Given the description of an element on the screen output the (x, y) to click on. 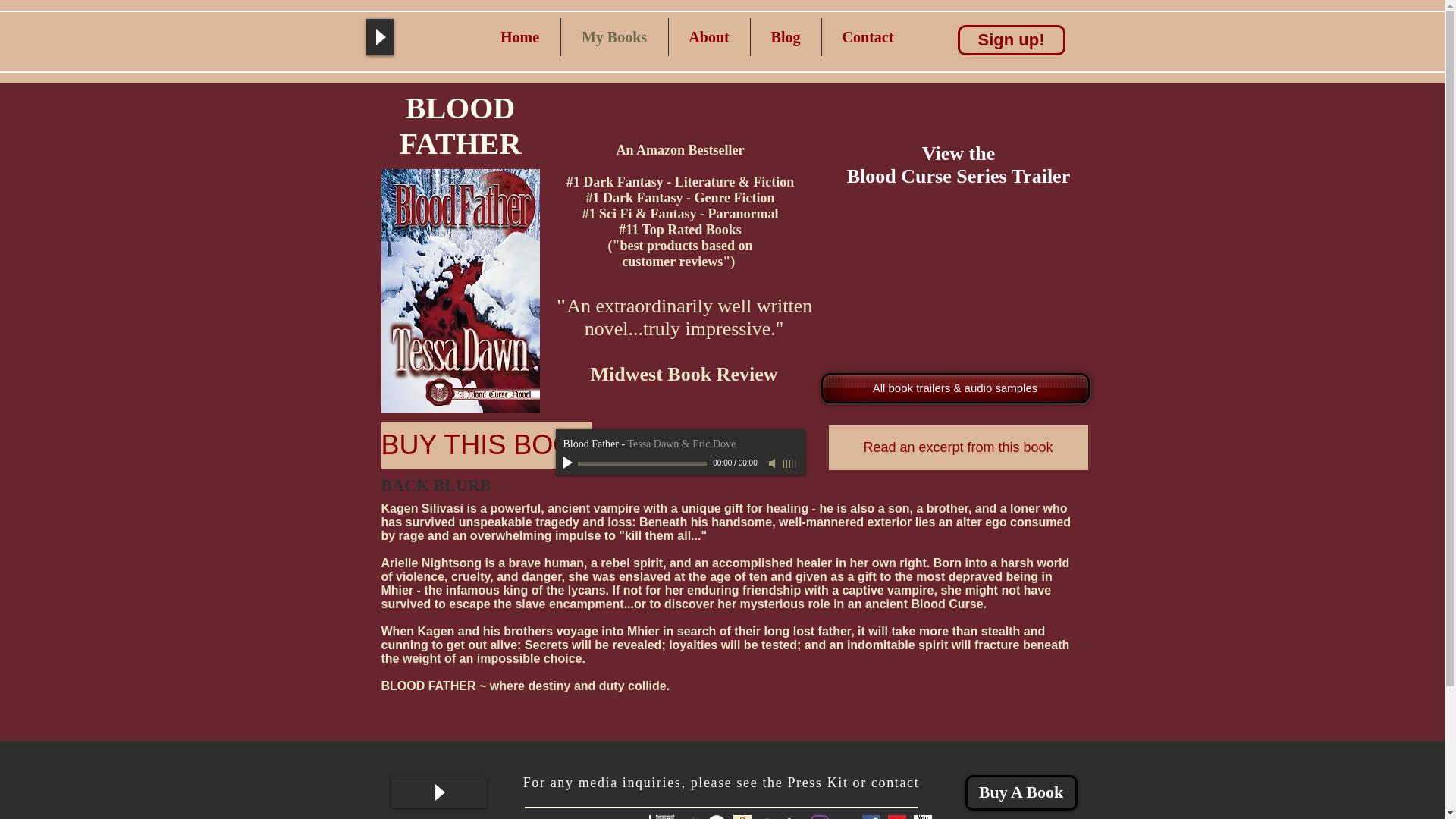
0 (642, 463)
About (708, 37)
External YouTube (953, 279)
Sign up! (1010, 40)
My Books (614, 37)
Home (519, 37)
Blog (786, 37)
Contact (868, 37)
